Given the description of an element on the screen output the (x, y) to click on. 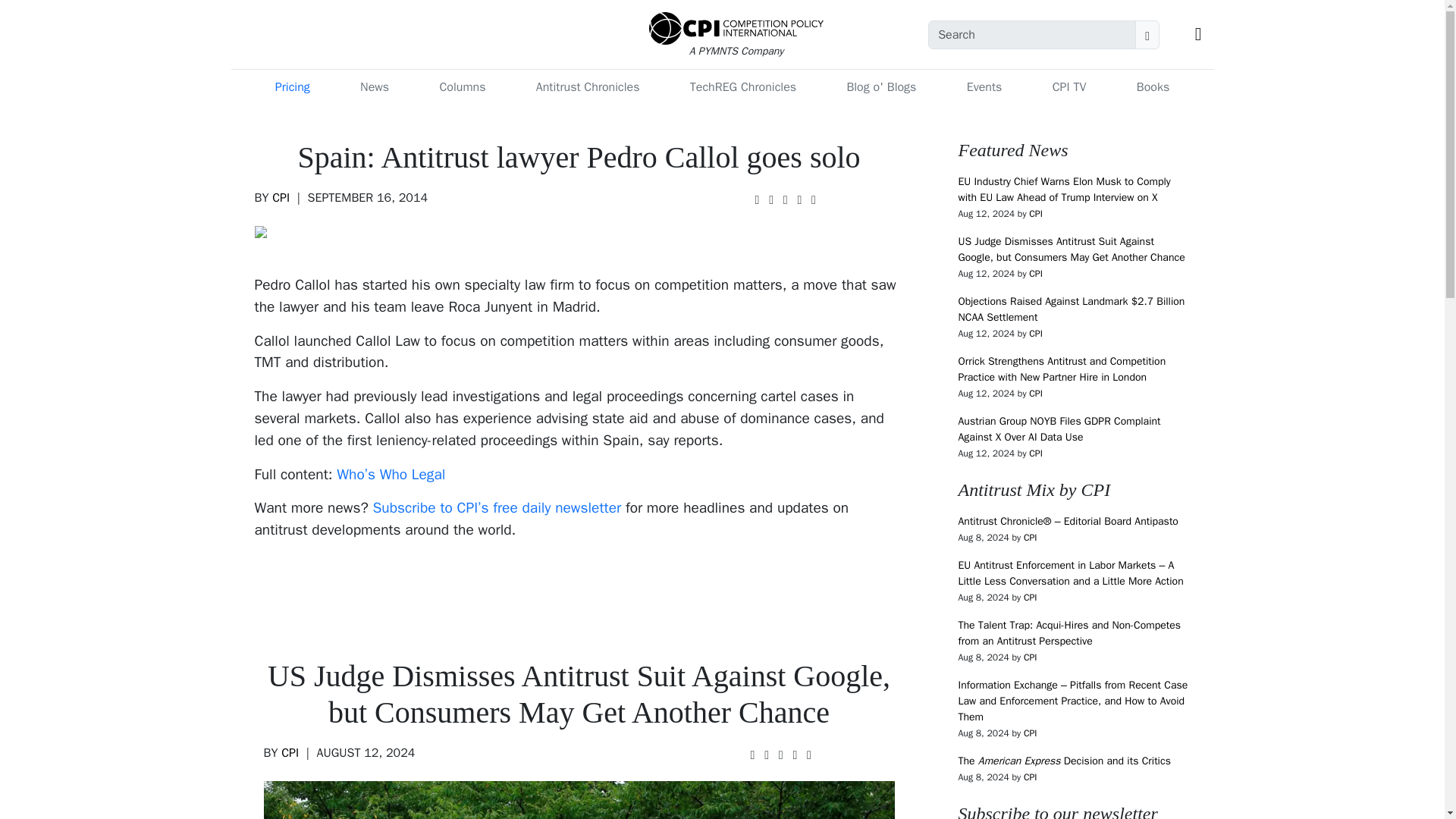
CPI TV (1069, 87)
CPI (280, 197)
TechREG Chronicles (743, 87)
Posts by CPI (280, 197)
Events (984, 87)
Pricing (292, 87)
Columns (462, 87)
News (373, 87)
CPI (289, 752)
Antitrust Chronicles (587, 87)
